Given the description of an element on the screen output the (x, y) to click on. 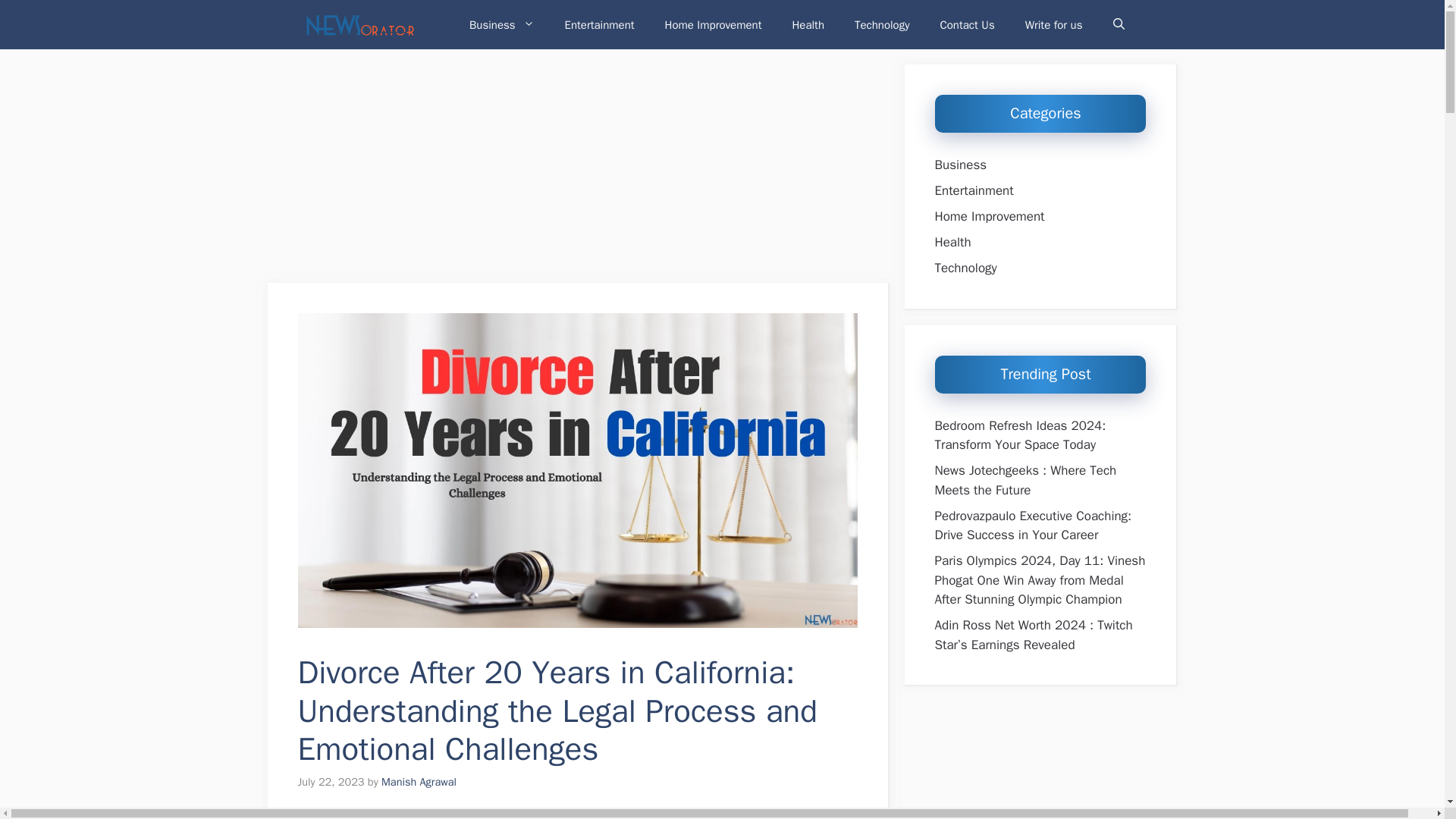
Business (502, 23)
Advertisement (577, 170)
Home Improvement (713, 23)
View all posts by Manish Agrawal (419, 781)
Write for us (1053, 23)
Manish Agrawal (419, 781)
Health (808, 23)
Entertainment (599, 23)
Technology (882, 23)
Contact Us (967, 23)
